Given the description of an element on the screen output the (x, y) to click on. 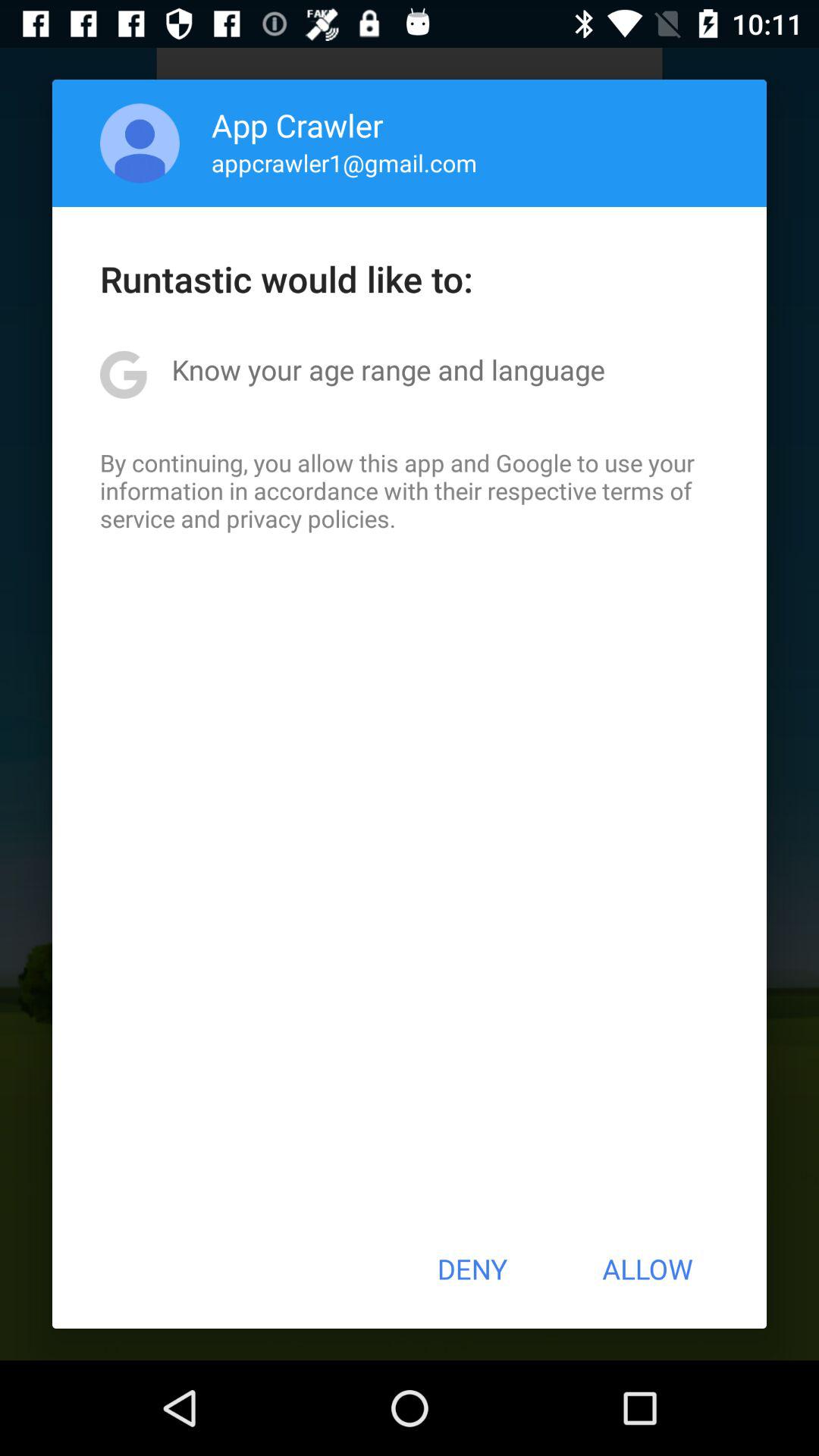
jump until the appcrawler1@gmail.com item (344, 162)
